Given the description of an element on the screen output the (x, y) to click on. 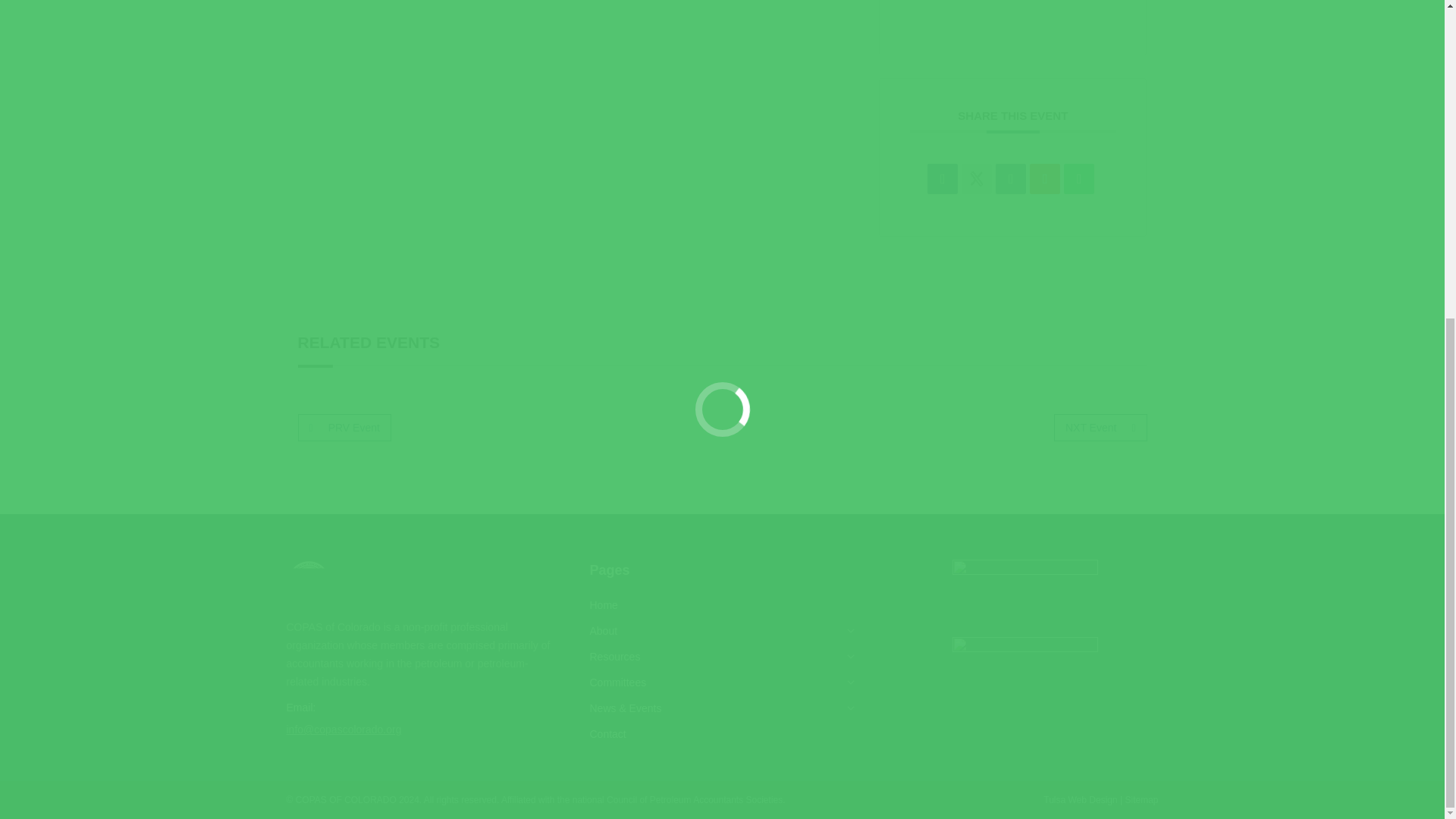
X Social Network (975, 178)
Share on Reddit (1044, 178)
Share on WhatsApp (1079, 178)
Share on Facebook (942, 178)
Linkedin (1010, 178)
